Given the description of an element on the screen output the (x, y) to click on. 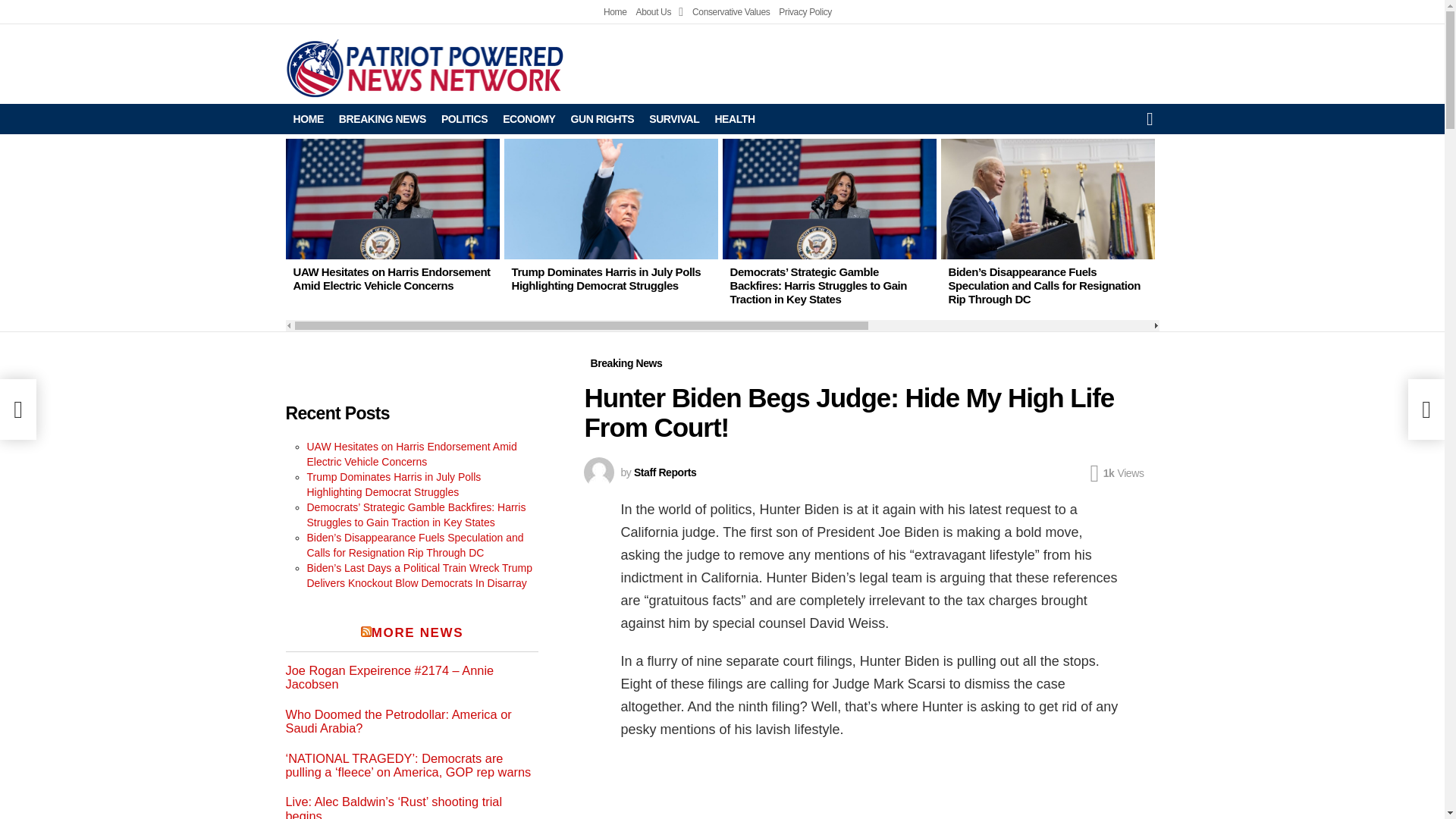
POLITICS (464, 118)
HEALTH (733, 118)
GUN RIGHTS (602, 118)
BREAKING NEWS (382, 118)
Privacy Policy (804, 12)
About Us (659, 12)
HOME (307, 118)
Home (615, 12)
ECONOMY (528, 118)
Conservative Values (731, 12)
Posts by Staff Reports (664, 472)
SURVIVAL (674, 118)
